Given the description of an element on the screen output the (x, y) to click on. 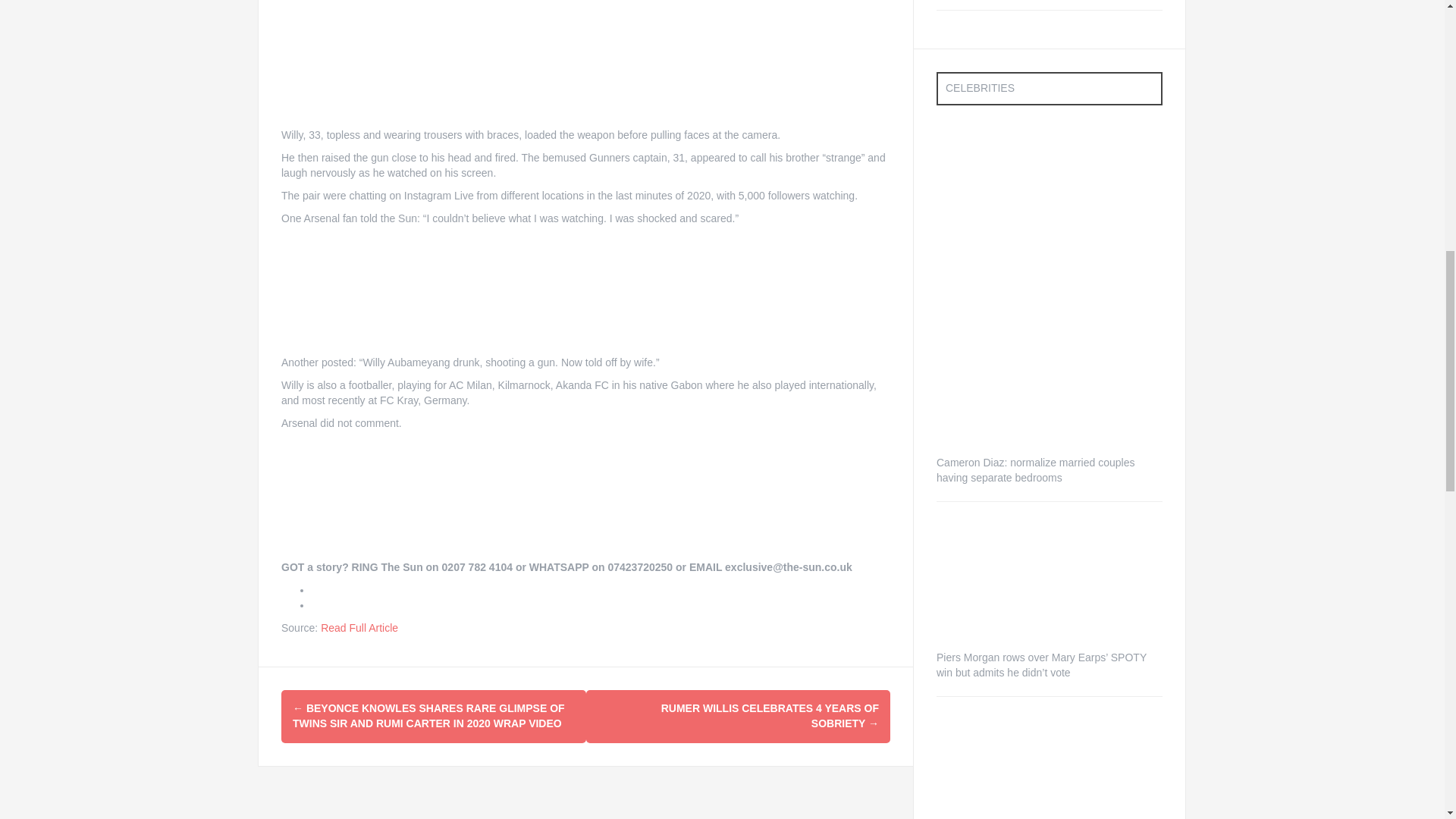
Read Full Article (358, 322)
